Given the description of an element on the screen output the (x, y) to click on. 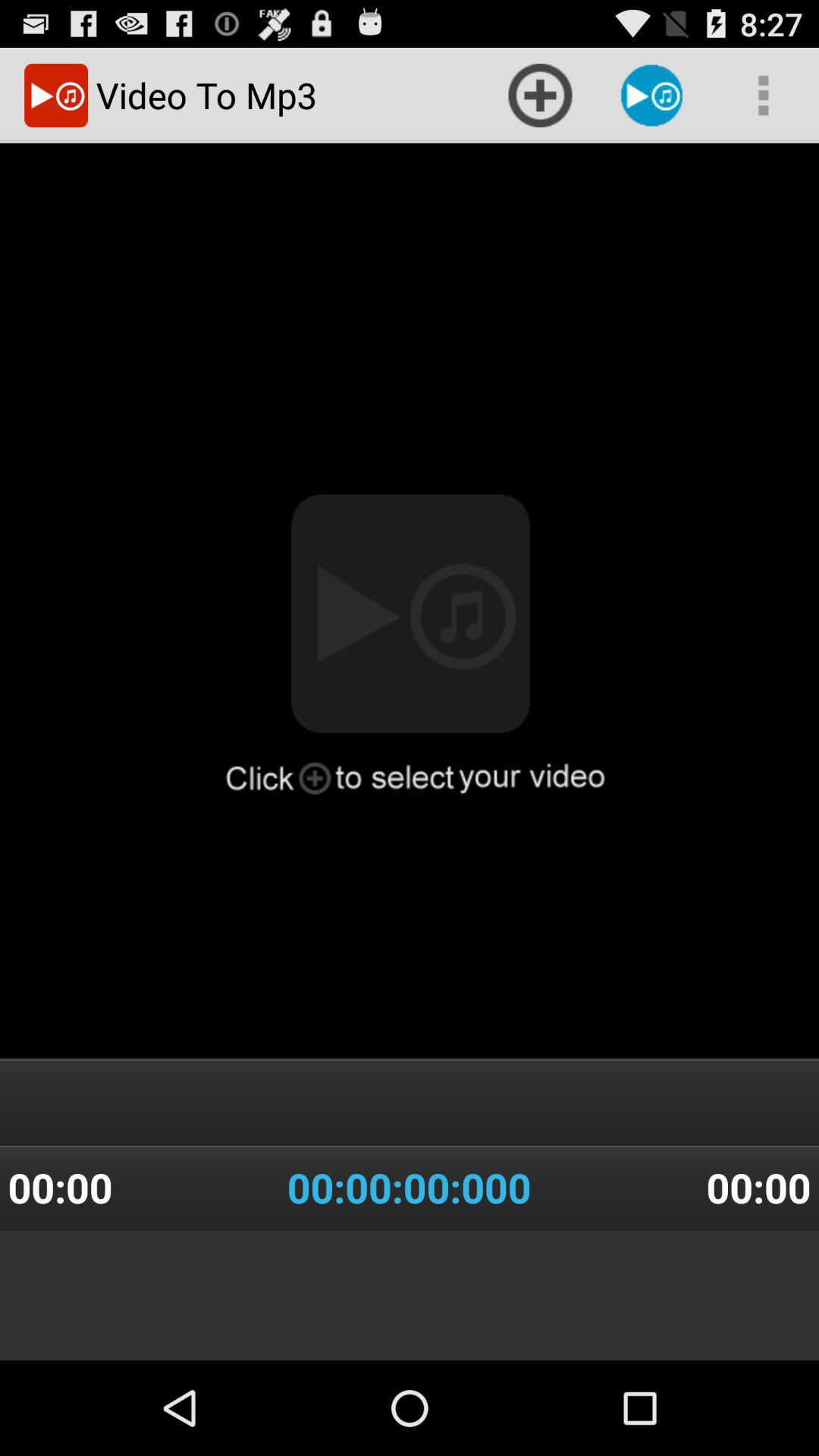
click the icon next to the video to mp3 (540, 95)
